Given the description of an element on the screen output the (x, y) to click on. 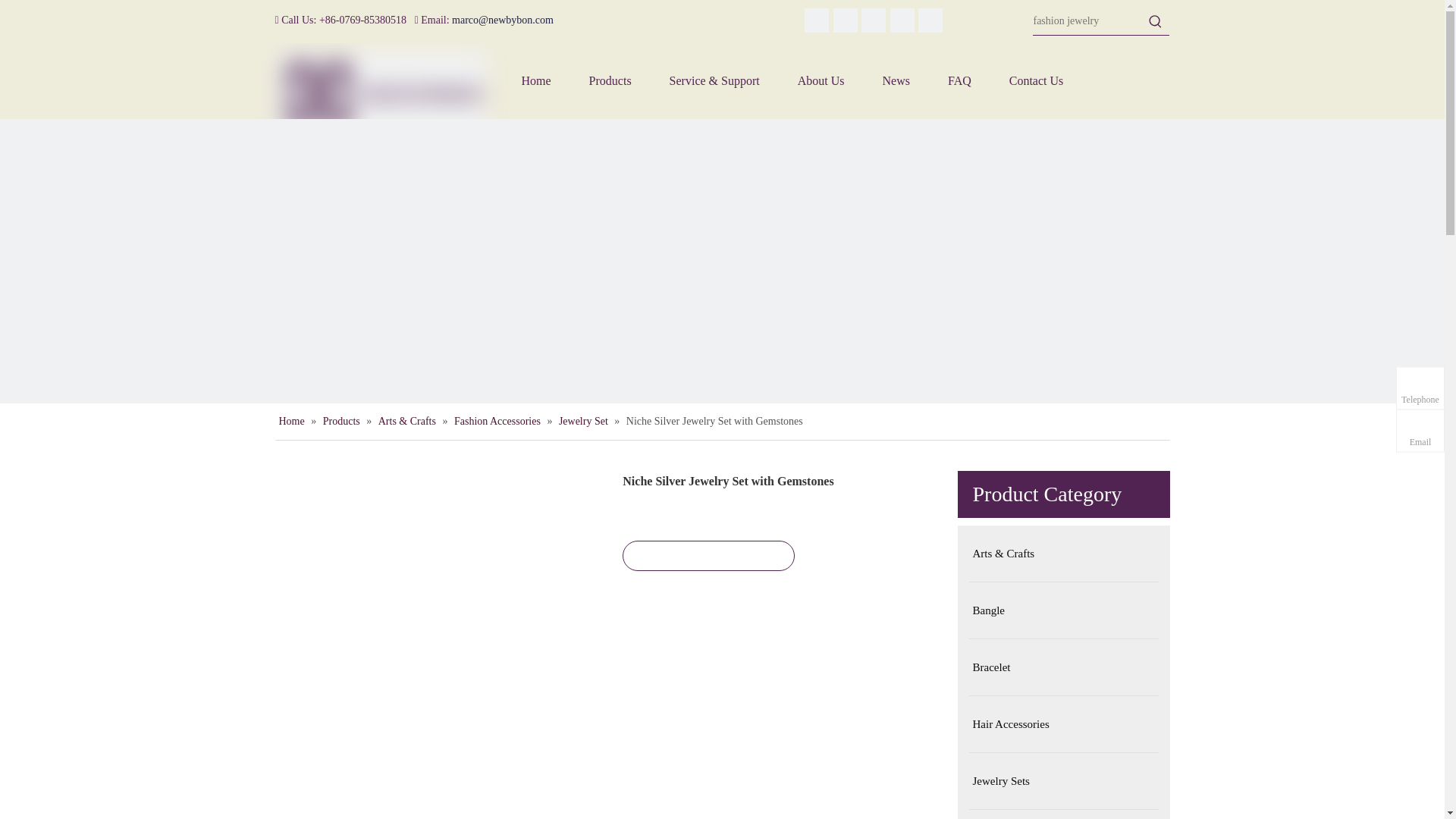
News (895, 80)
Home (535, 80)
About Us (820, 80)
tumblr (901, 20)
Contact Us (1036, 80)
Products (610, 80)
Facebook (930, 20)
vk (873, 20)
Twitter (844, 20)
FAQ (959, 80)
